Given the description of an element on the screen output the (x, y) to click on. 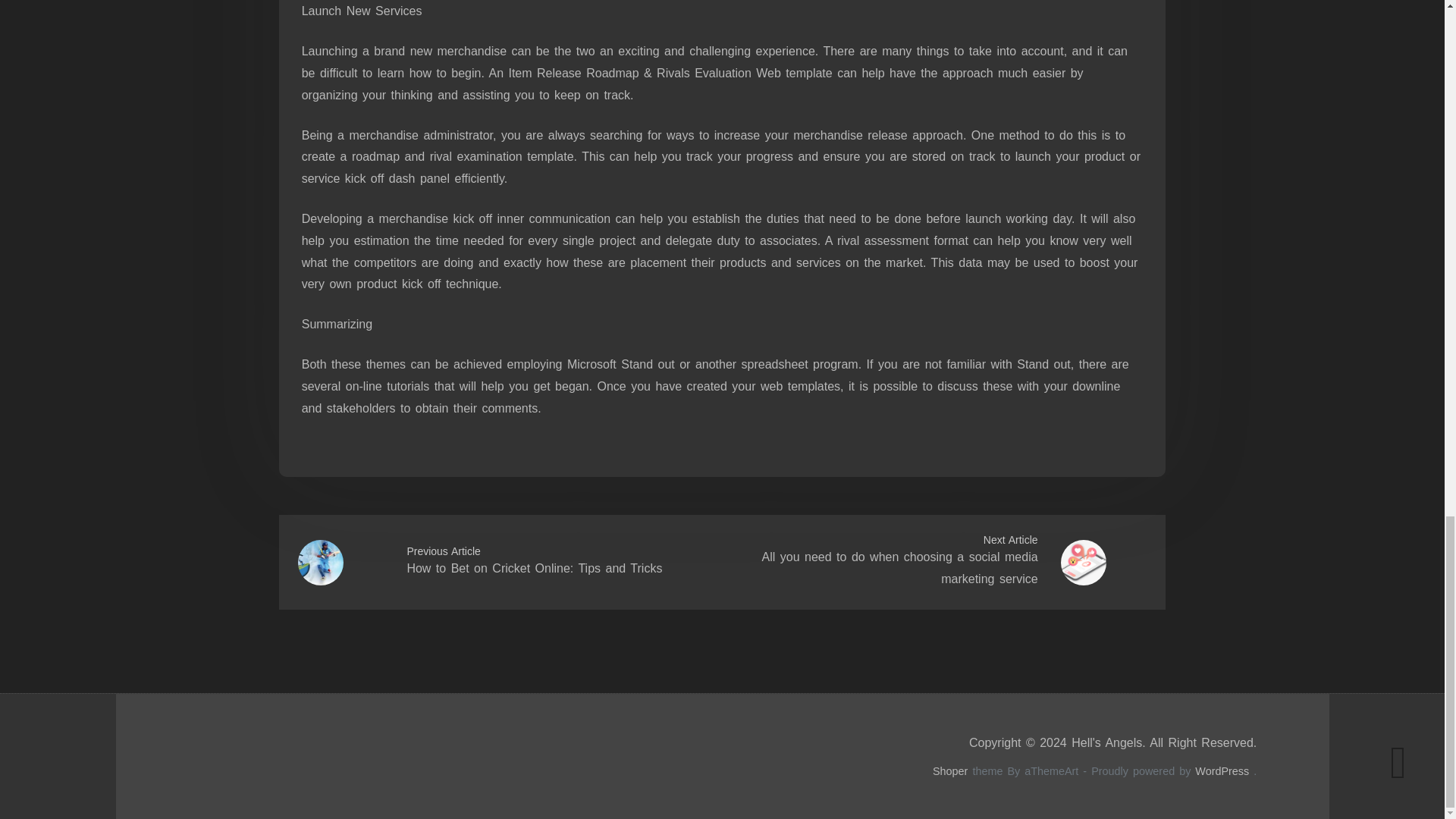
WordPress (1222, 770)
Shoper (950, 770)
How to Bet on Cricket Online: Tips and Tricks (534, 567)
